Given the description of an element on the screen output the (x, y) to click on. 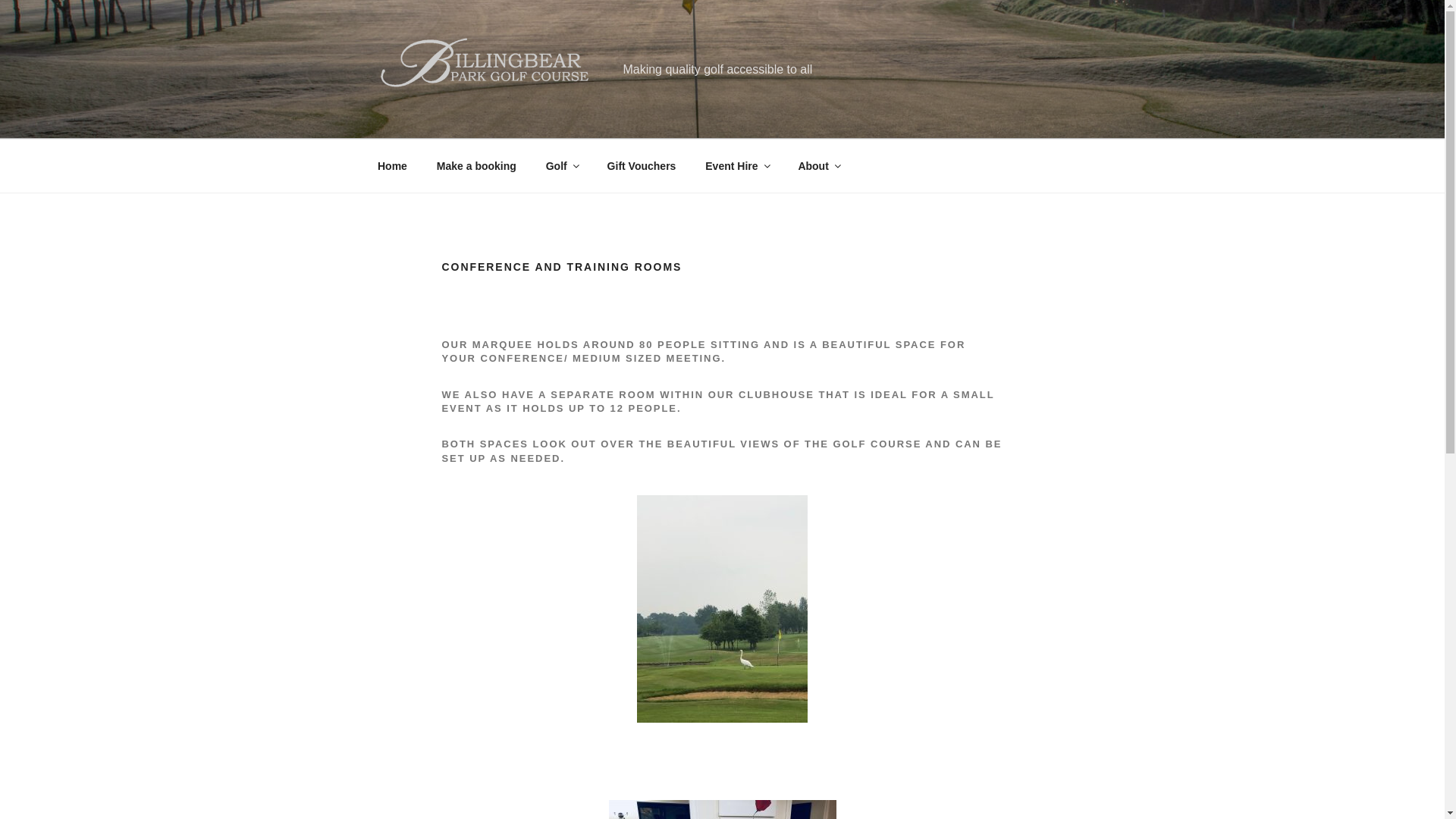
Gift Vouchers (641, 165)
Event Hire (737, 165)
About (817, 165)
Make a booking (476, 165)
Golf (561, 165)
Home (392, 165)
